Given the description of an element on the screen output the (x, y) to click on. 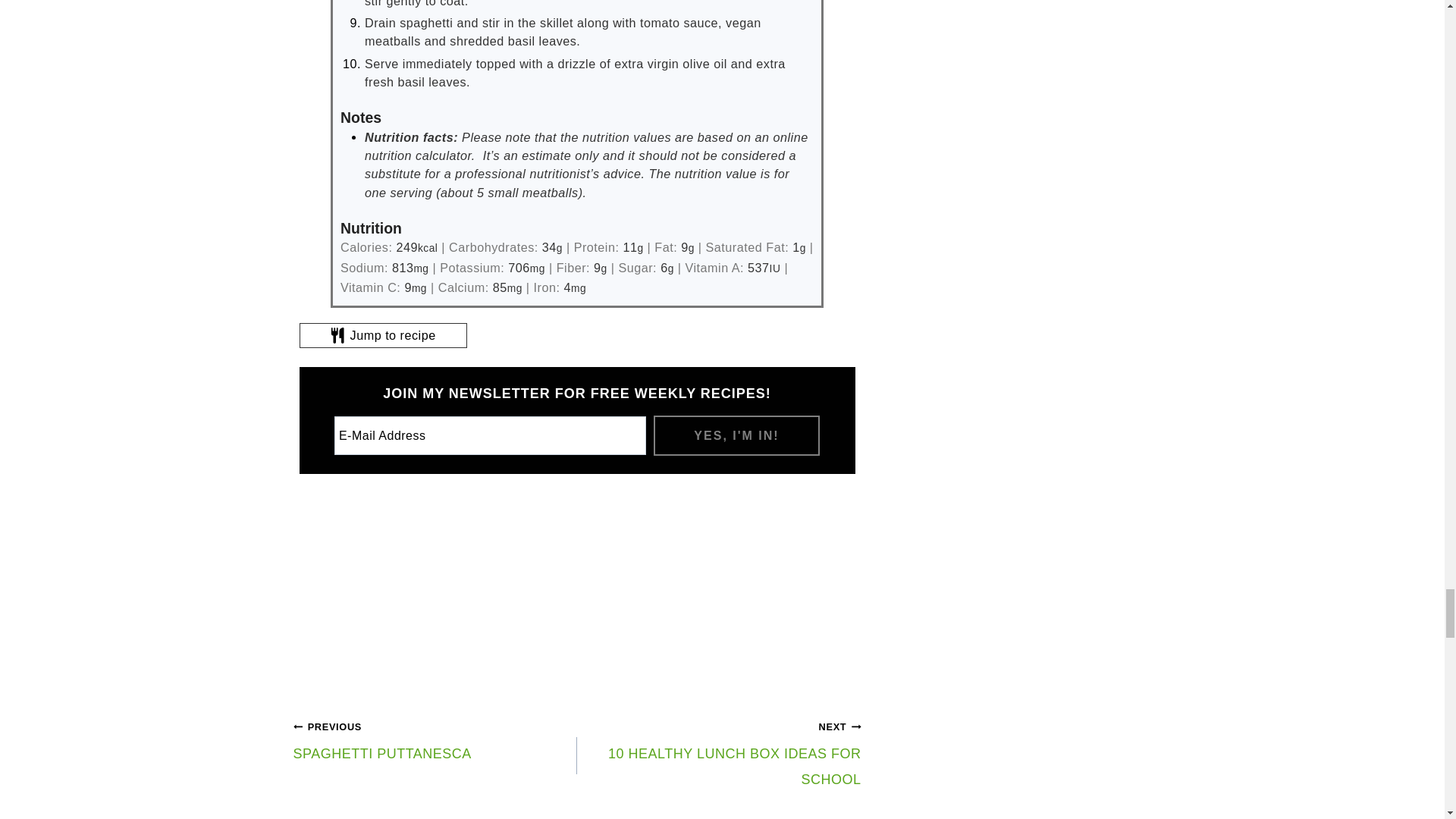
YES, I'M IN! (736, 435)
